Given the description of an element on the screen output the (x, y) to click on. 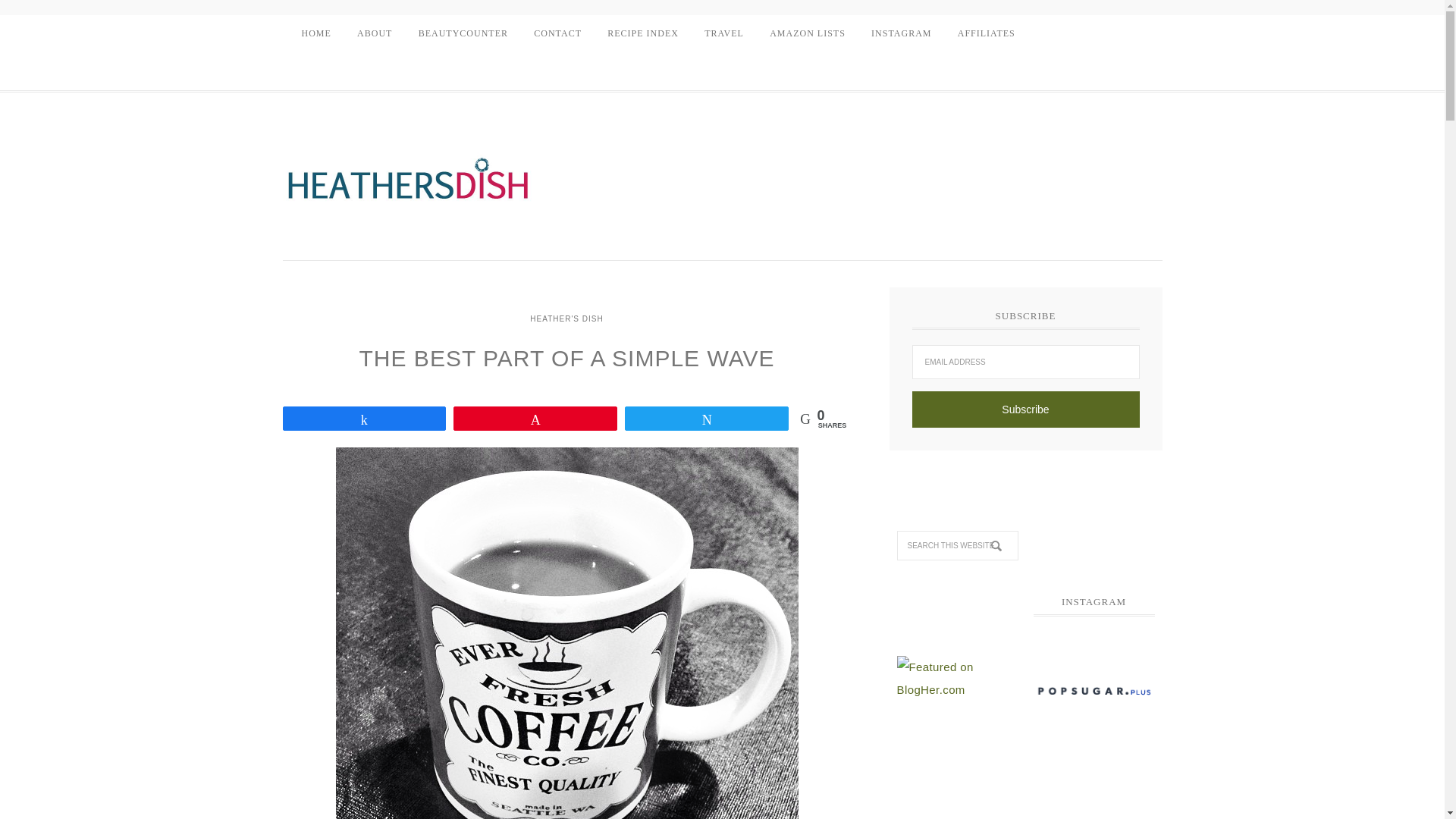
HEATHER'S DISH (407, 185)
Subscribe (1024, 409)
BEAUTYCOUNTER (463, 33)
ABOUT (374, 33)
TRAVEL (724, 33)
CONTACT (557, 33)
AFFILIATES (986, 33)
AMAZON LISTS (807, 33)
